Given the description of an element on the screen output the (x, y) to click on. 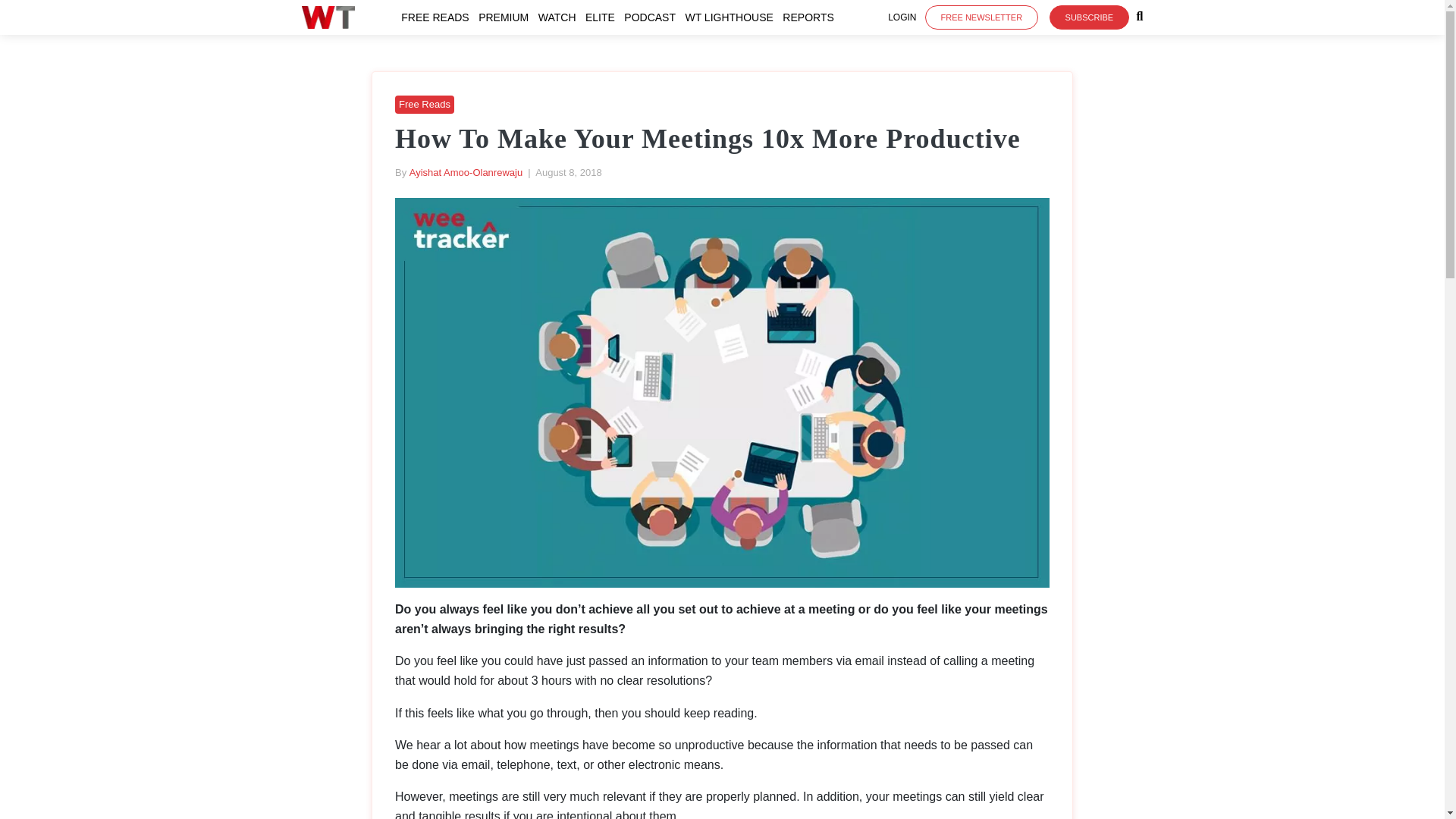
REPORTS (811, 17)
Ayishat Amoo-Olanrewaju (465, 172)
PODCAST (652, 17)
WT LIGHTHOUSE (731, 17)
Posts by Ayishat Amoo-Olanrewaju (465, 172)
FREE READS (437, 17)
ELITE (603, 17)
FREE NEWSLETTER (981, 17)
WATCH (560, 17)
LOGIN (902, 17)
Free Reads (423, 103)
SUBSCRIBE (1089, 17)
PREMIUM (506, 17)
